Given the description of an element on the screen output the (x, y) to click on. 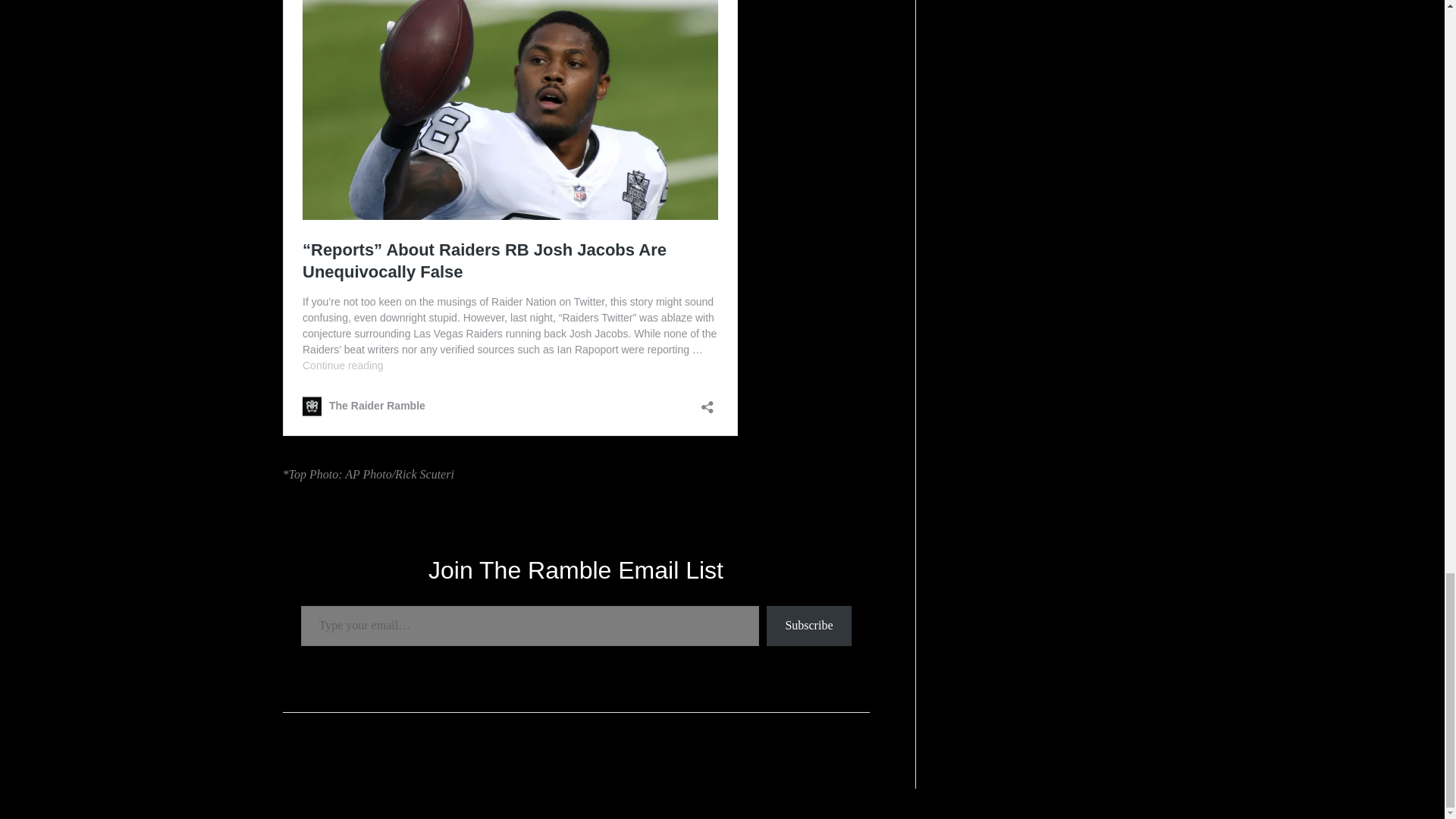
Please fill in this field. (528, 626)
Subscribe (808, 626)
